Given the description of an element on the screen output the (x, y) to click on. 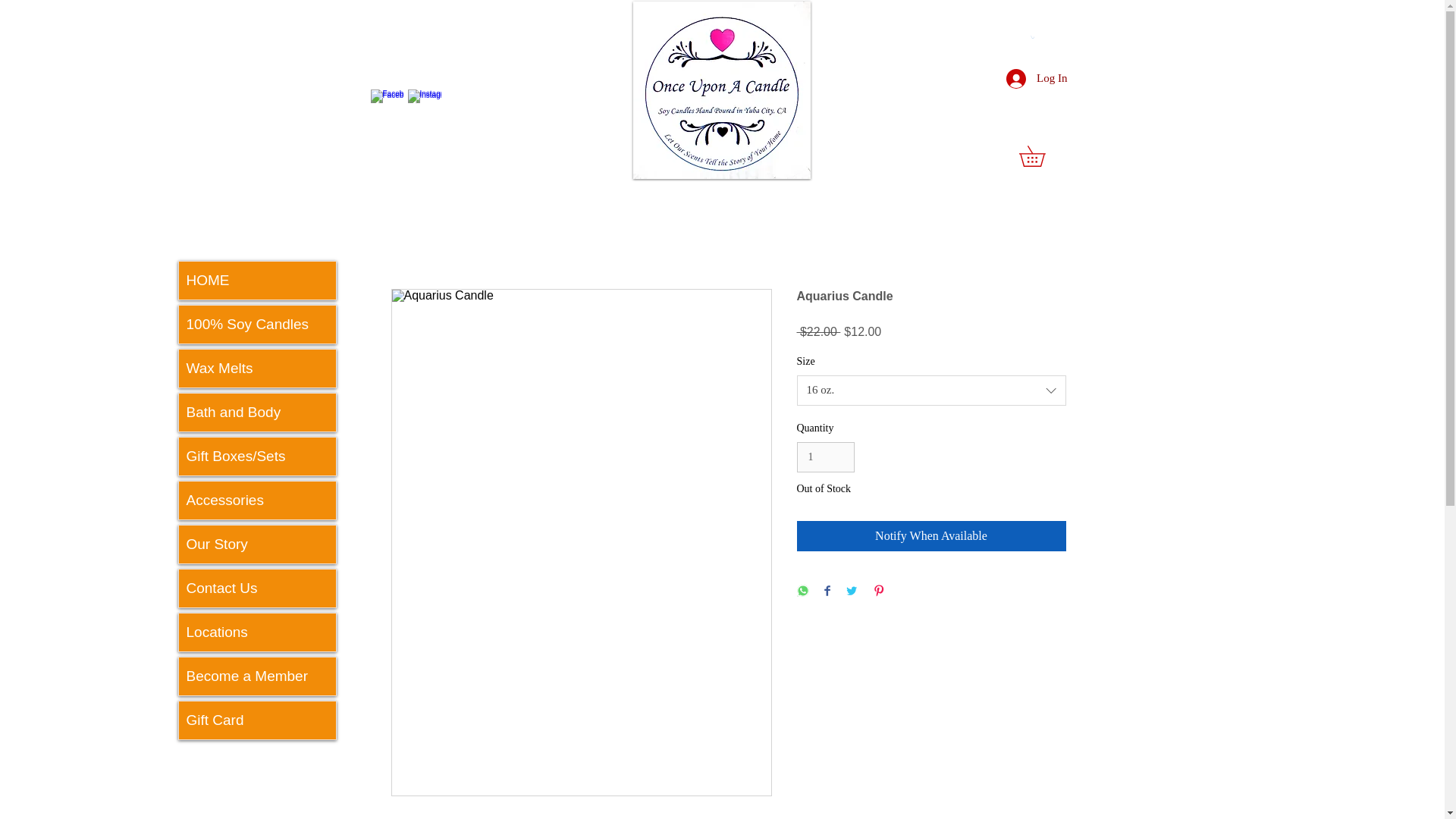
Wax Melts (257, 368)
16 oz. (930, 390)
Gift Card (257, 720)
Log In (1036, 77)
Accessories (257, 500)
Notify When Available (930, 535)
Locations (257, 632)
Bath and Body (257, 412)
Contact Us (257, 588)
HOME (257, 280)
1 (824, 457)
Our Story (257, 544)
Become a Member (257, 676)
